Given the description of an element on the screen output the (x, y) to click on. 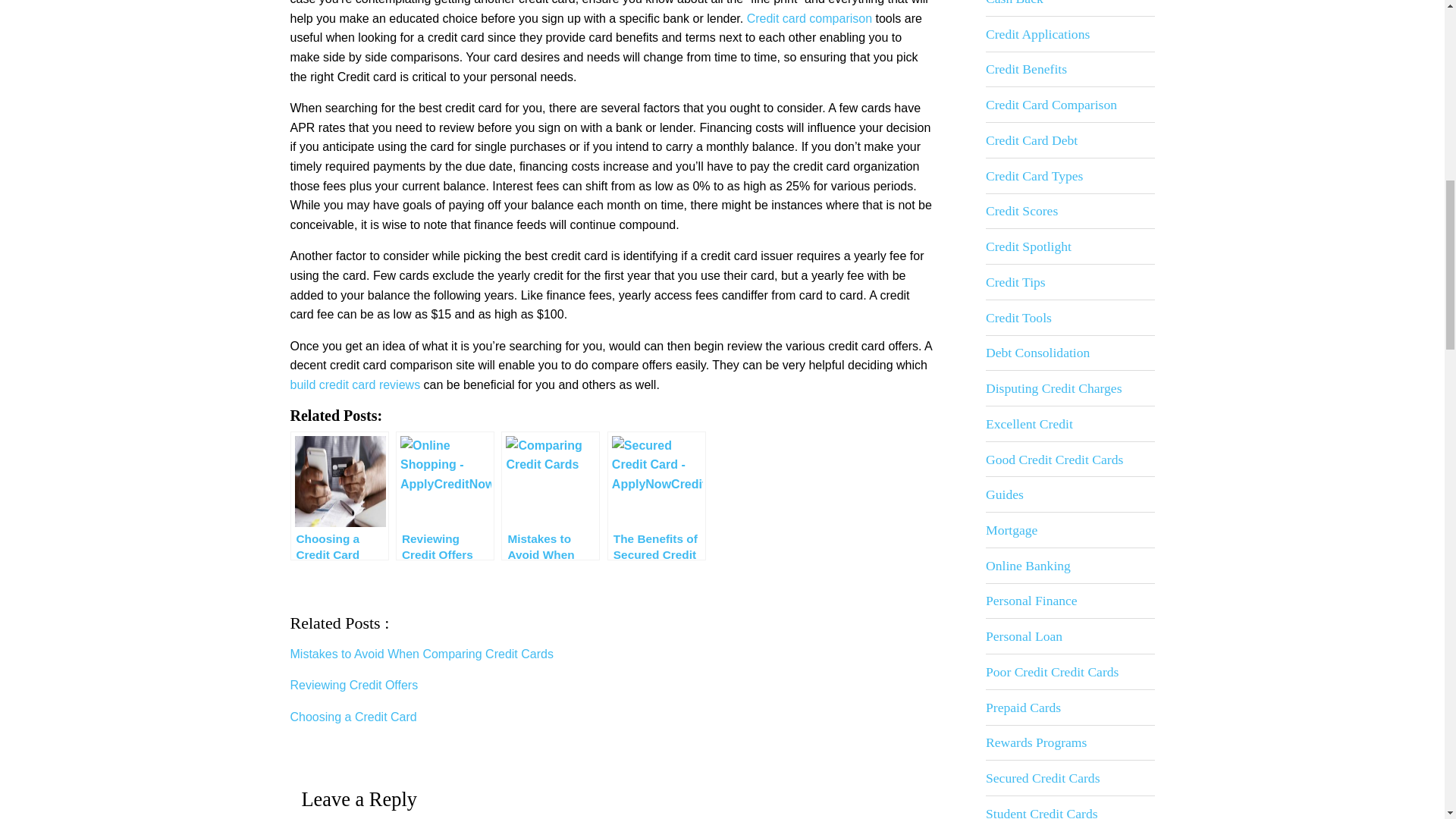
Permanent Link to Choosing a Credit Card (356, 716)
Permanent Link to Reviewing Credit Offers (357, 684)
